Given the description of an element on the screen output the (x, y) to click on. 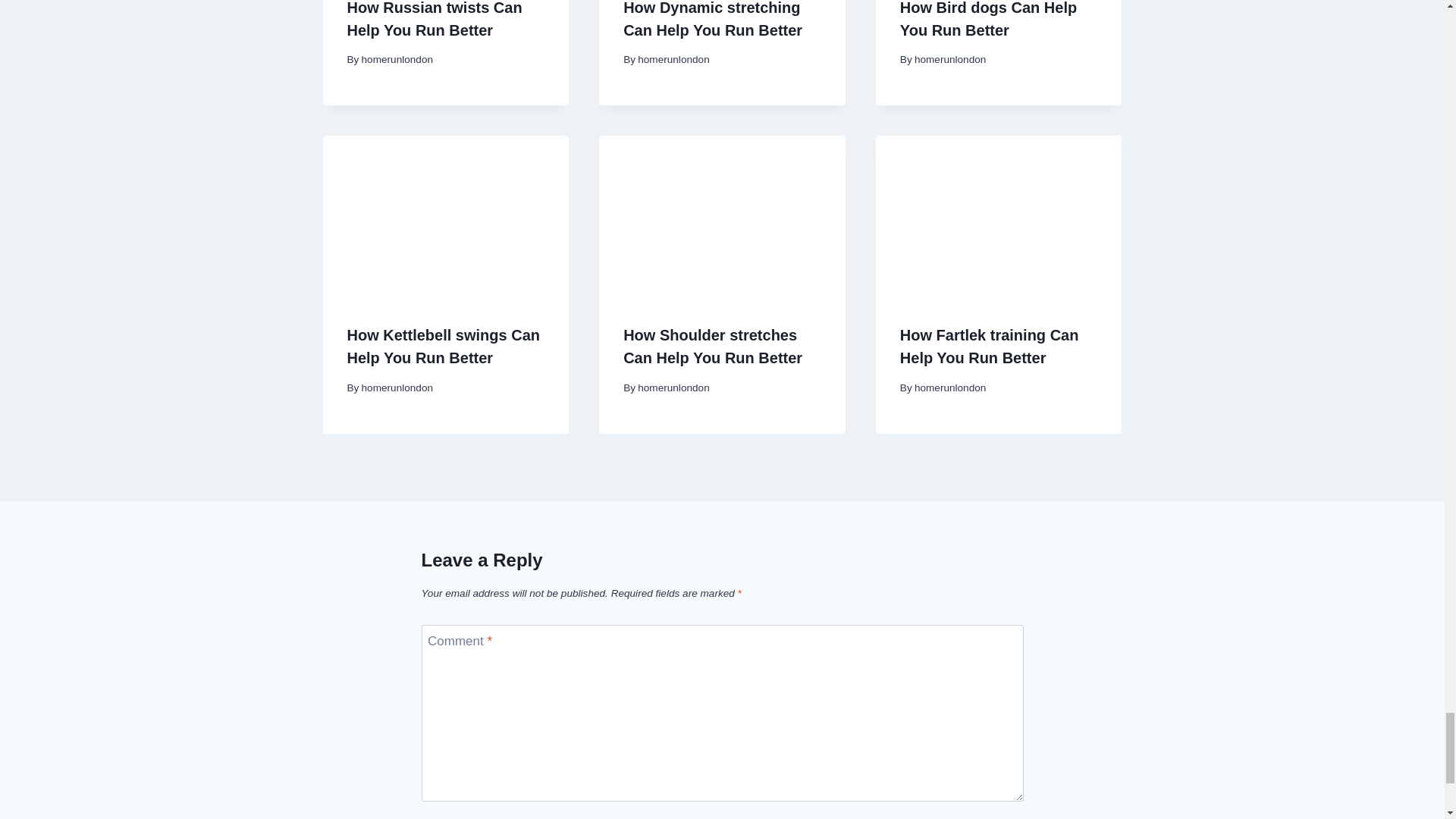
homerunlondon (396, 387)
homerunlondon (949, 59)
How Dynamic stretching Can Help You Run Better (712, 19)
How Bird dogs Can Help You Run Better (988, 19)
homerunlondon (673, 59)
How Kettlebell swings Can Help You Run Better (443, 346)
How Shoulder stretches Can Help You Run Better (712, 346)
How Russian twists Can Help You Run Better (434, 19)
homerunlondon (396, 59)
